Given the description of an element on the screen output the (x, y) to click on. 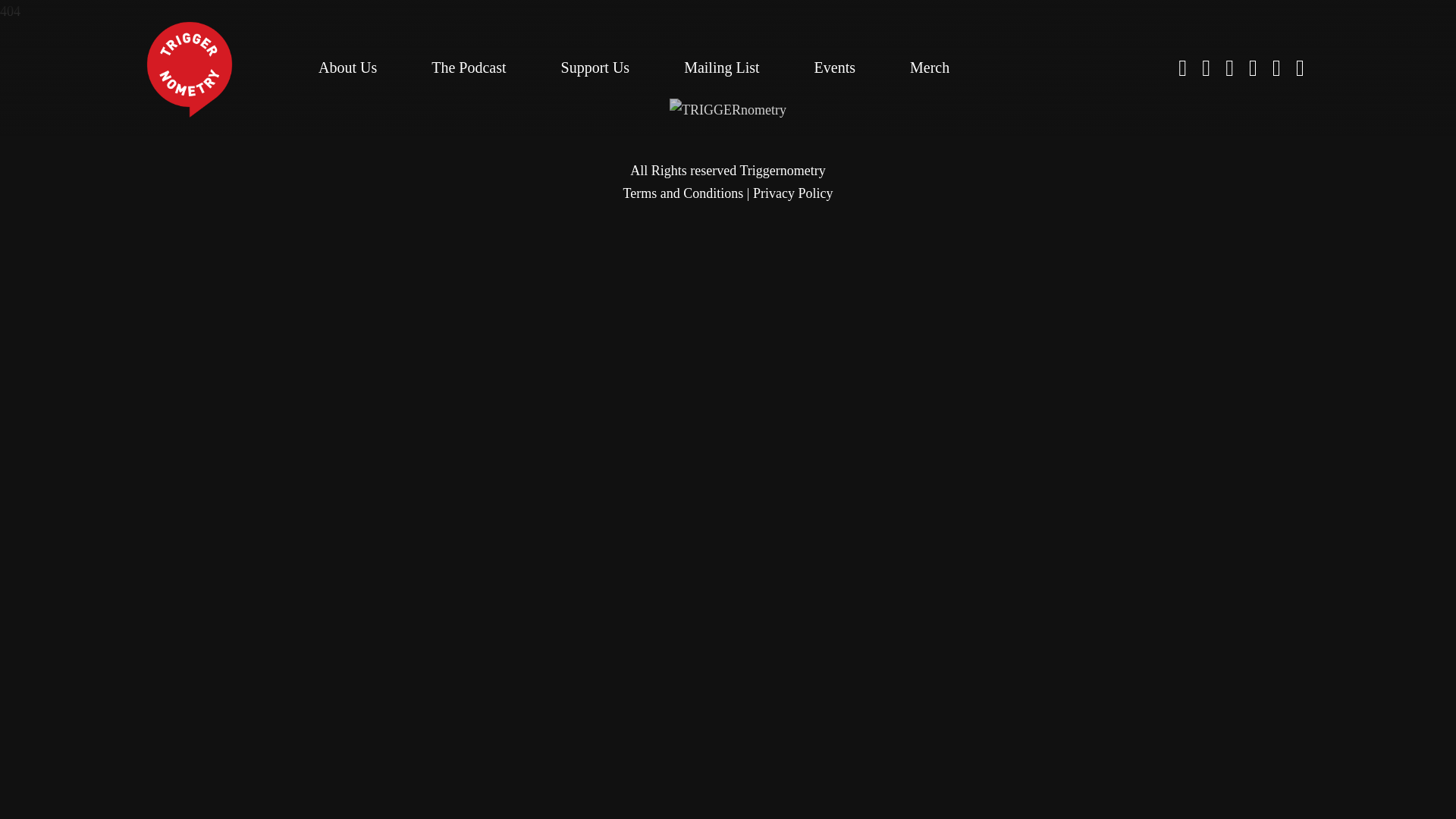
Merch (929, 67)
Mailing List (721, 67)
Terms and Conditions (683, 192)
Events (834, 67)
Support Us (595, 67)
About Us (347, 67)
The Podcast (467, 67)
Privacy Policy (792, 192)
